Given the description of an element on the screen output the (x, y) to click on. 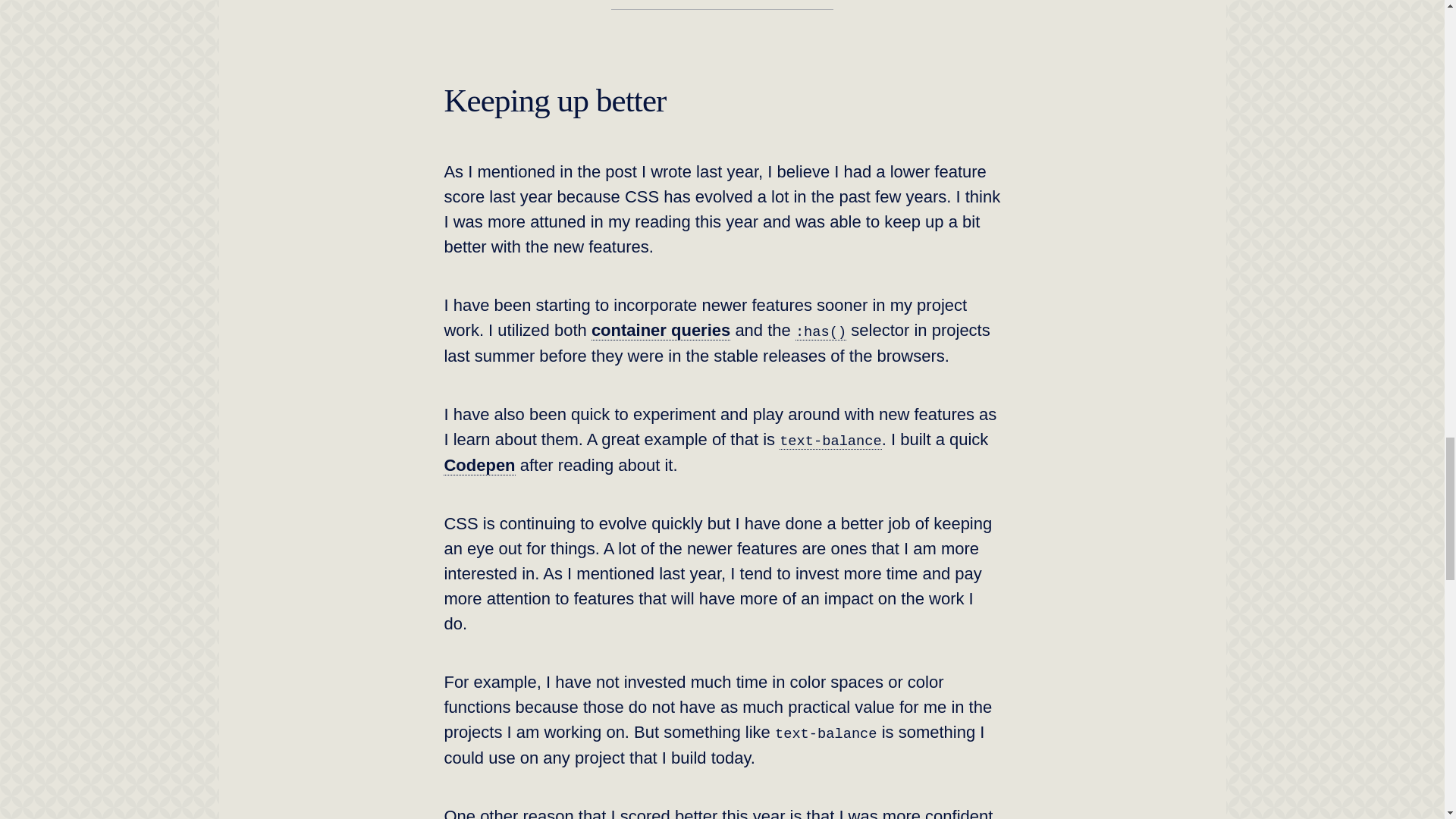
container queries (660, 330)
Codepen (479, 465)
text-balance (830, 439)
